Given the description of an element on the screen output the (x, y) to click on. 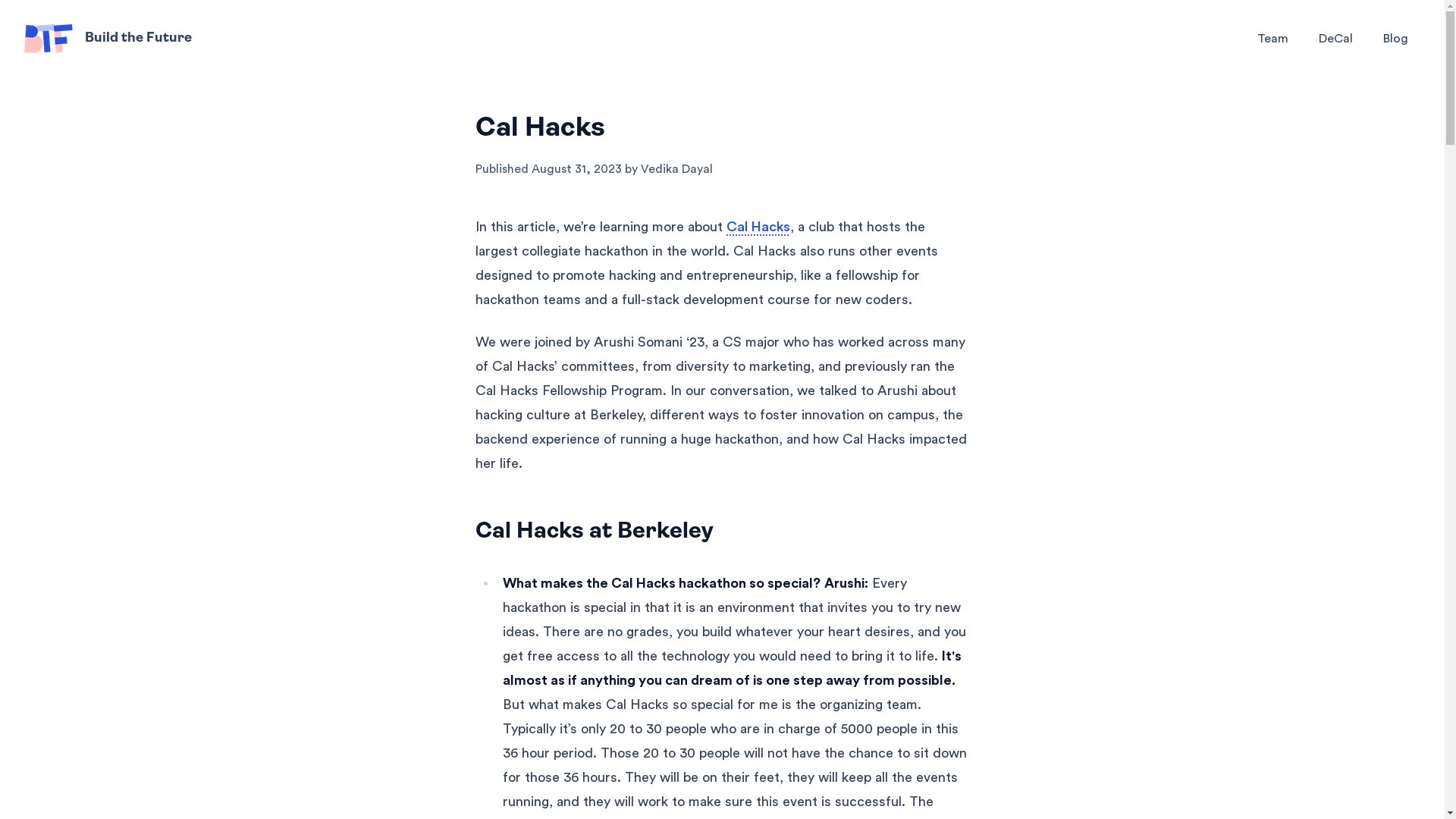
Build the Future Element type: text (107, 38)
Team Element type: text (1272, 38)
Cal Hacks Element type: text (758, 226)
Blog Element type: text (1395, 38)
DeCal Element type: text (1335, 38)
